Given the description of an element on the screen output the (x, y) to click on. 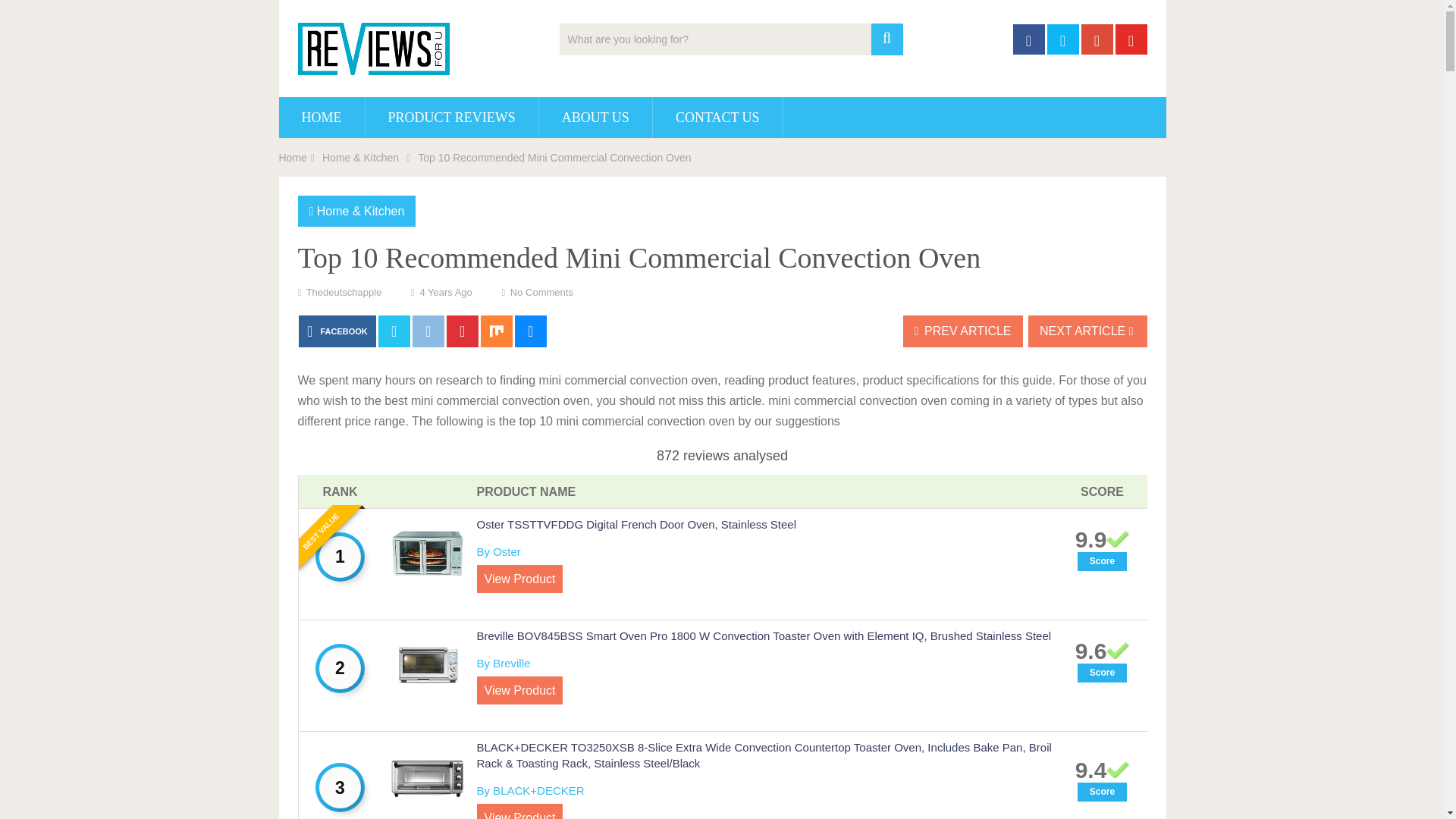
View Product (519, 811)
Posts by thedeutschapple (343, 292)
By Breville (502, 662)
CONTACT US (717, 117)
View Product (519, 690)
PRODUCT REVIEWS (451, 117)
View Product (519, 578)
Home (293, 157)
Oster TSSTTVFDDG Digital French Door Oven, Stainless Steel (636, 523)
